Given the description of an element on the screen output the (x, y) to click on. 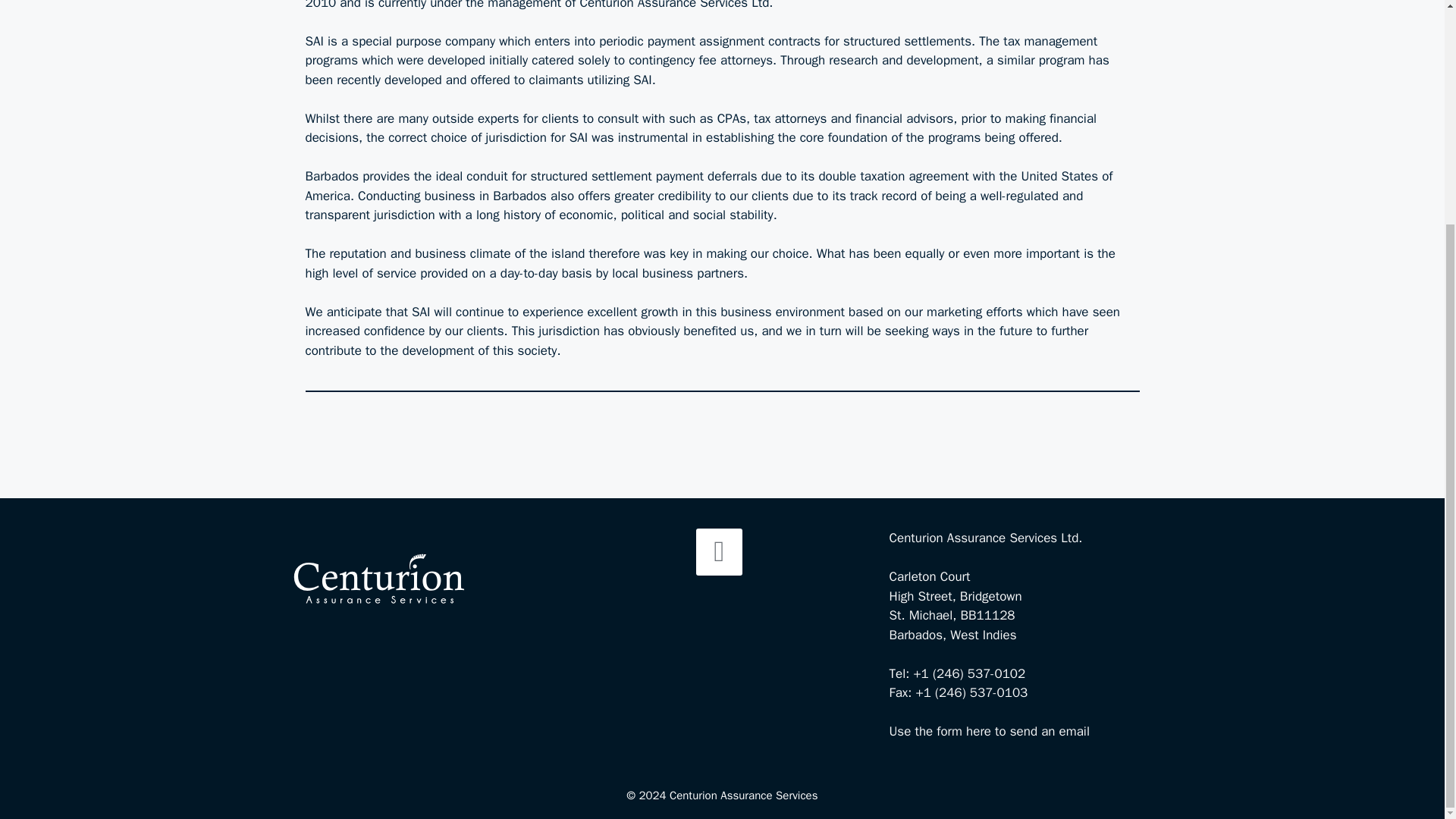
here (978, 731)
LinkedIn (718, 551)
